Given the description of an element on the screen output the (x, y) to click on. 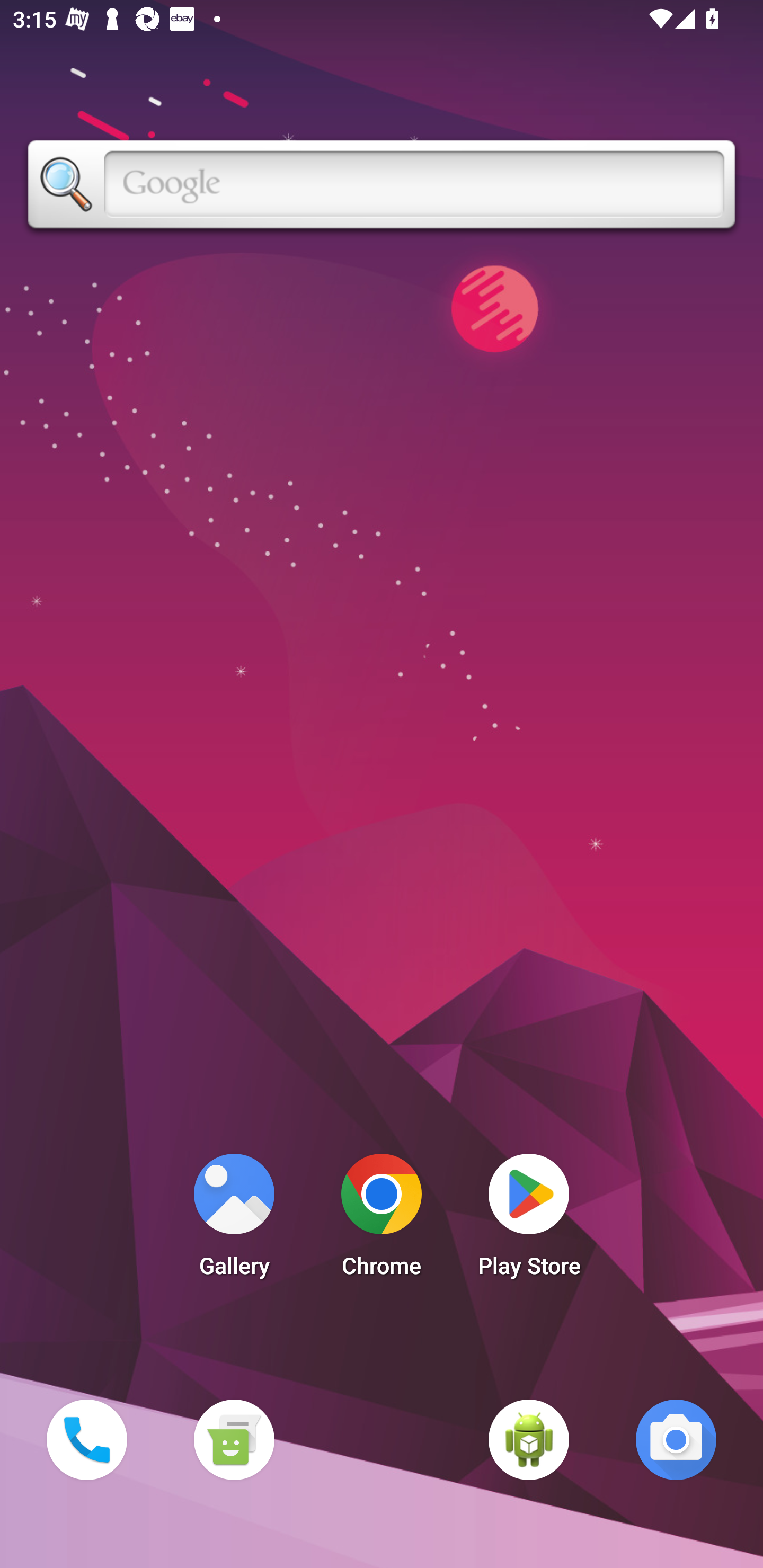
Gallery (233, 1220)
Chrome (381, 1220)
Play Store (528, 1220)
Phone (86, 1439)
Messaging (233, 1439)
WebView Browser Tester (528, 1439)
Camera (676, 1439)
